Given the description of an element on the screen output the (x, y) to click on. 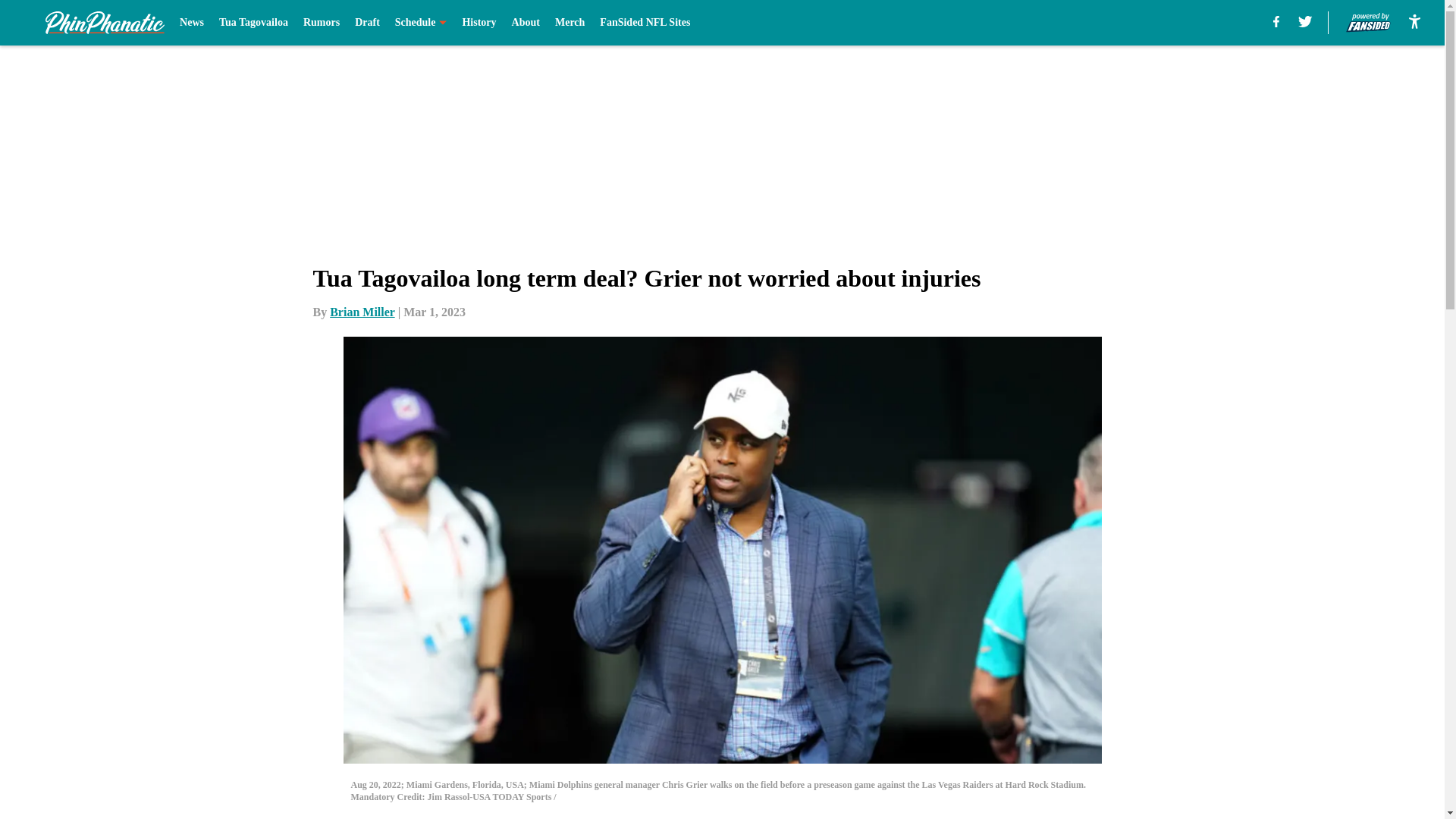
About (526, 22)
Brian Miller (362, 311)
Draft (367, 22)
Rumors (320, 22)
Merch (569, 22)
History (478, 22)
FanSided NFL Sites (644, 22)
News (191, 22)
Tua Tagovailoa (253, 22)
